Given the description of an element on the screen output the (x, y) to click on. 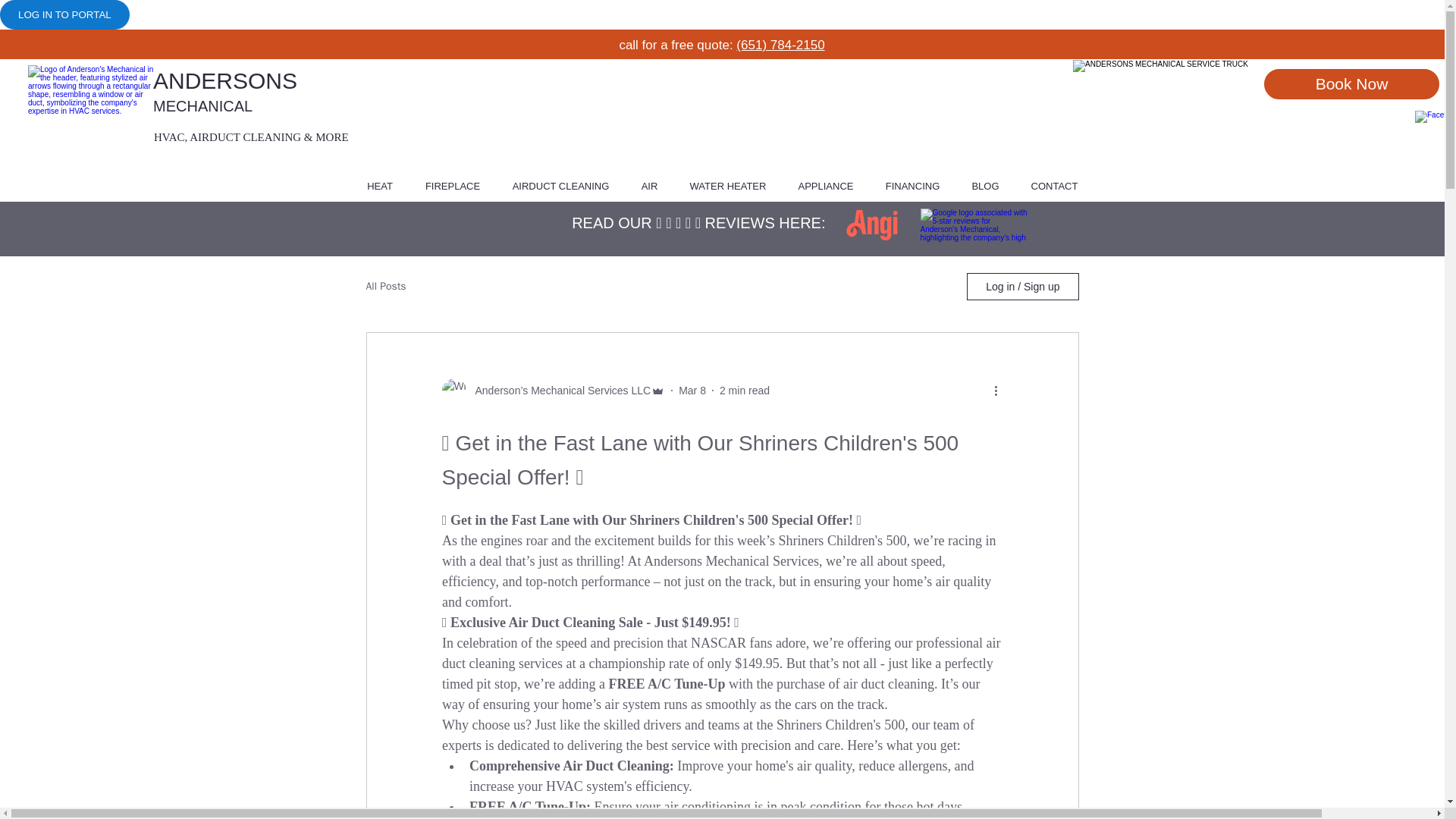
FIREPLACE (452, 186)
AIR (648, 186)
2 min read (744, 389)
All Posts (385, 286)
MECHANICAL (201, 105)
WATER HEATER (726, 186)
BLOG (984, 186)
FINANCING (912, 186)
HEAT (379, 186)
APPLIANCE (826, 186)
AIRDUCT CLEANING (560, 186)
LOG IN TO PORTAL (64, 14)
CONTACT (1053, 186)
Book Now (1351, 83)
Mar 8 (692, 389)
